Given the description of an element on the screen output the (x, y) to click on. 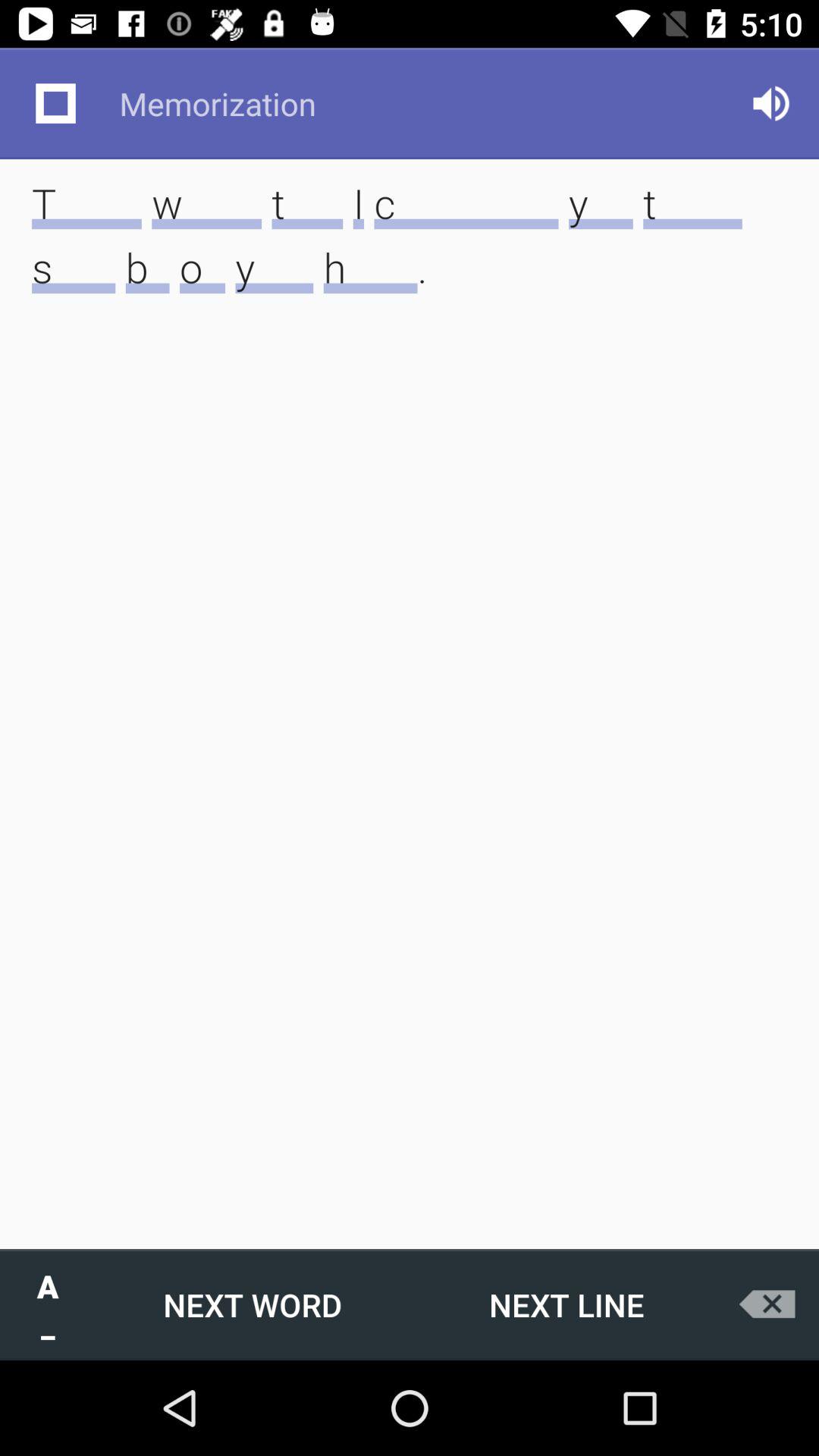
select item next to the memorization app (55, 103)
